Given the description of an element on the screen output the (x, y) to click on. 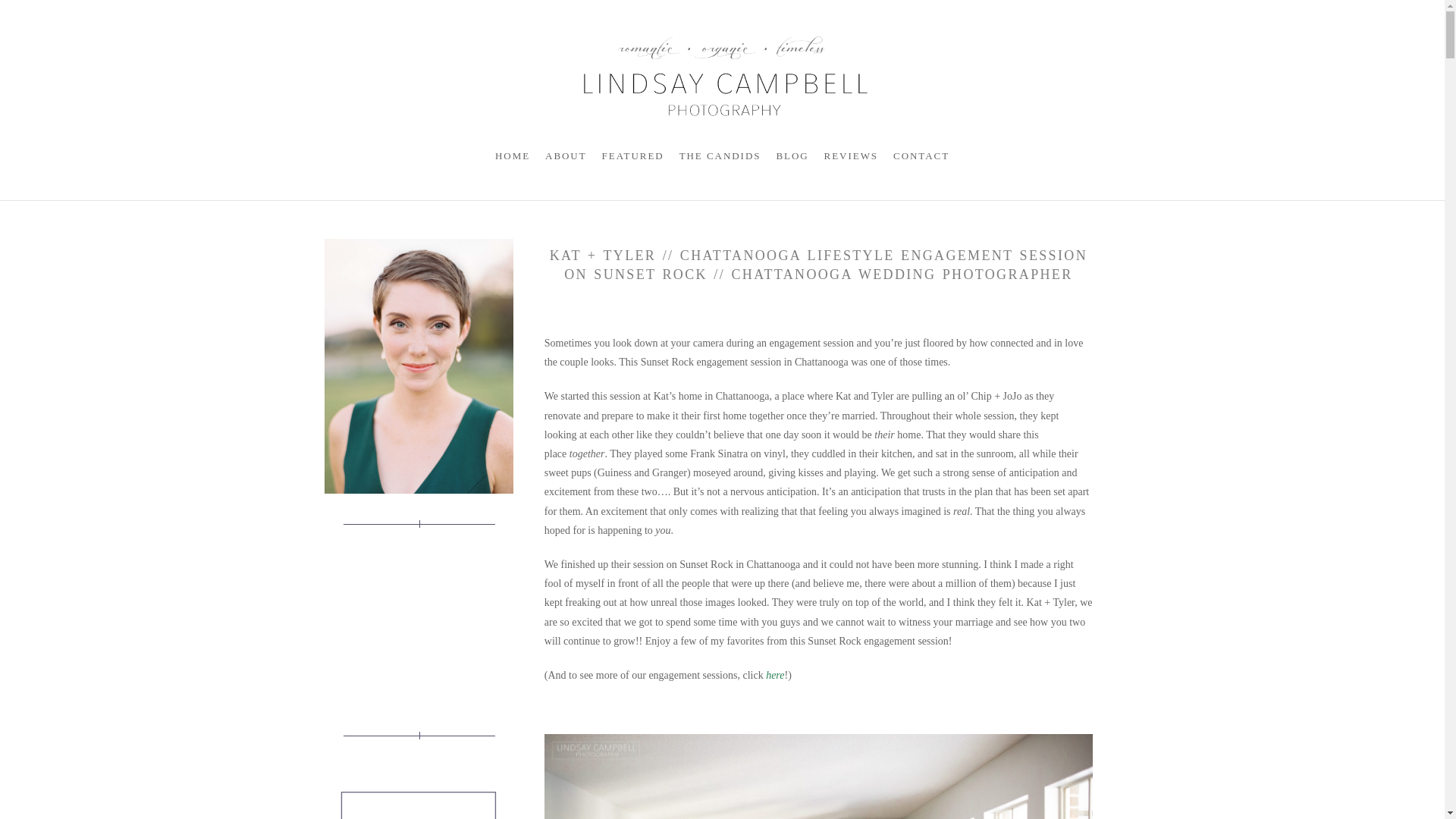
BLOG (792, 155)
REVIEWS (850, 155)
CONTACT (418, 792)
THE CANDIDS (921, 155)
HOME (720, 155)
ABOUT (512, 155)
FEATURED (565, 155)
here (632, 155)
